Given the description of an element on the screen output the (x, y) to click on. 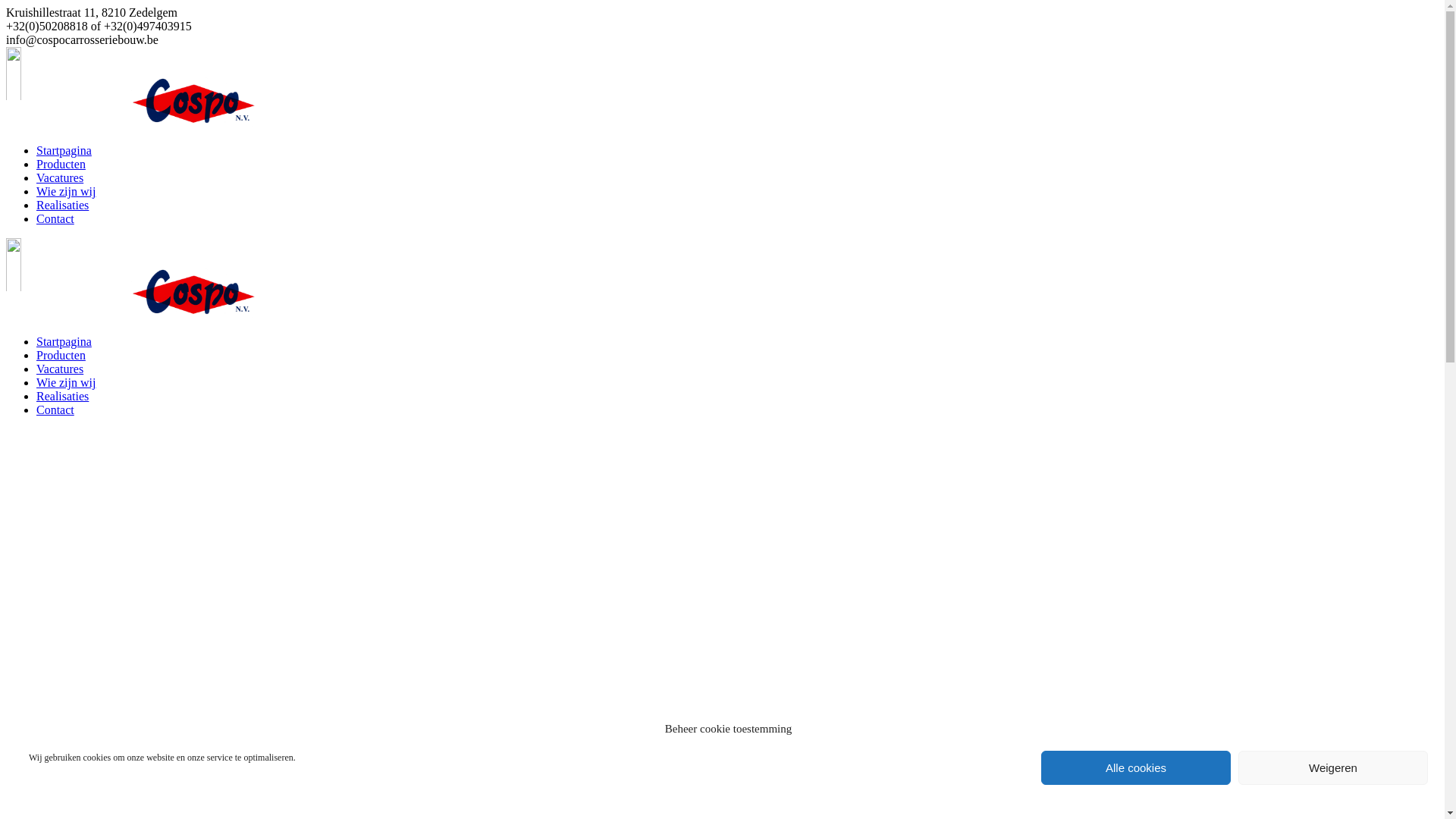
Contact Element type: text (55, 409)
Vacatures Element type: text (59, 177)
Realisaties Element type: text (62, 204)
Producten Element type: text (60, 163)
Ga naar de inhoud Element type: text (5, 5)
Alle cookies Element type: text (1135, 767)
Startpagina Element type: text (63, 341)
Weigeren Element type: text (1332, 767)
Wie zijn wij Element type: text (65, 382)
Contact Element type: text (55, 218)
Producten Element type: text (60, 354)
Wie zijn wij Element type: text (65, 191)
Vacatures Element type: text (59, 368)
Realisaties Element type: text (62, 395)
Startpagina Element type: text (63, 150)
